Given the description of an element on the screen output the (x, y) to click on. 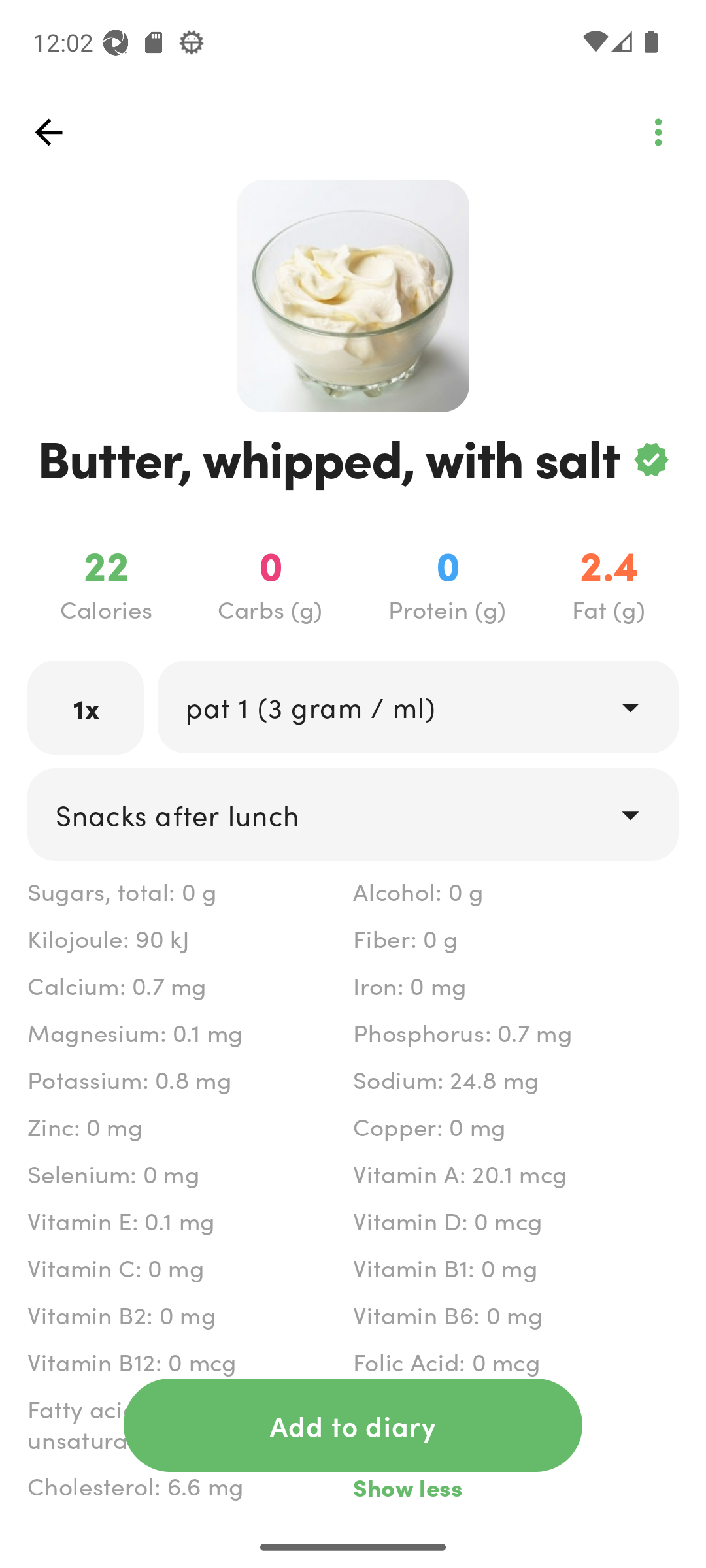
top_left_action (48, 132)
top_left_action (658, 132)
1x labeled_edit_text (85, 707)
drop_down pat 1 (3 gram / ml) (417, 706)
drop_down Snacks after lunch (352, 814)
action_button Add to diary (352, 1425)
Show less (515, 1486)
